Given the description of an element on the screen output the (x, y) to click on. 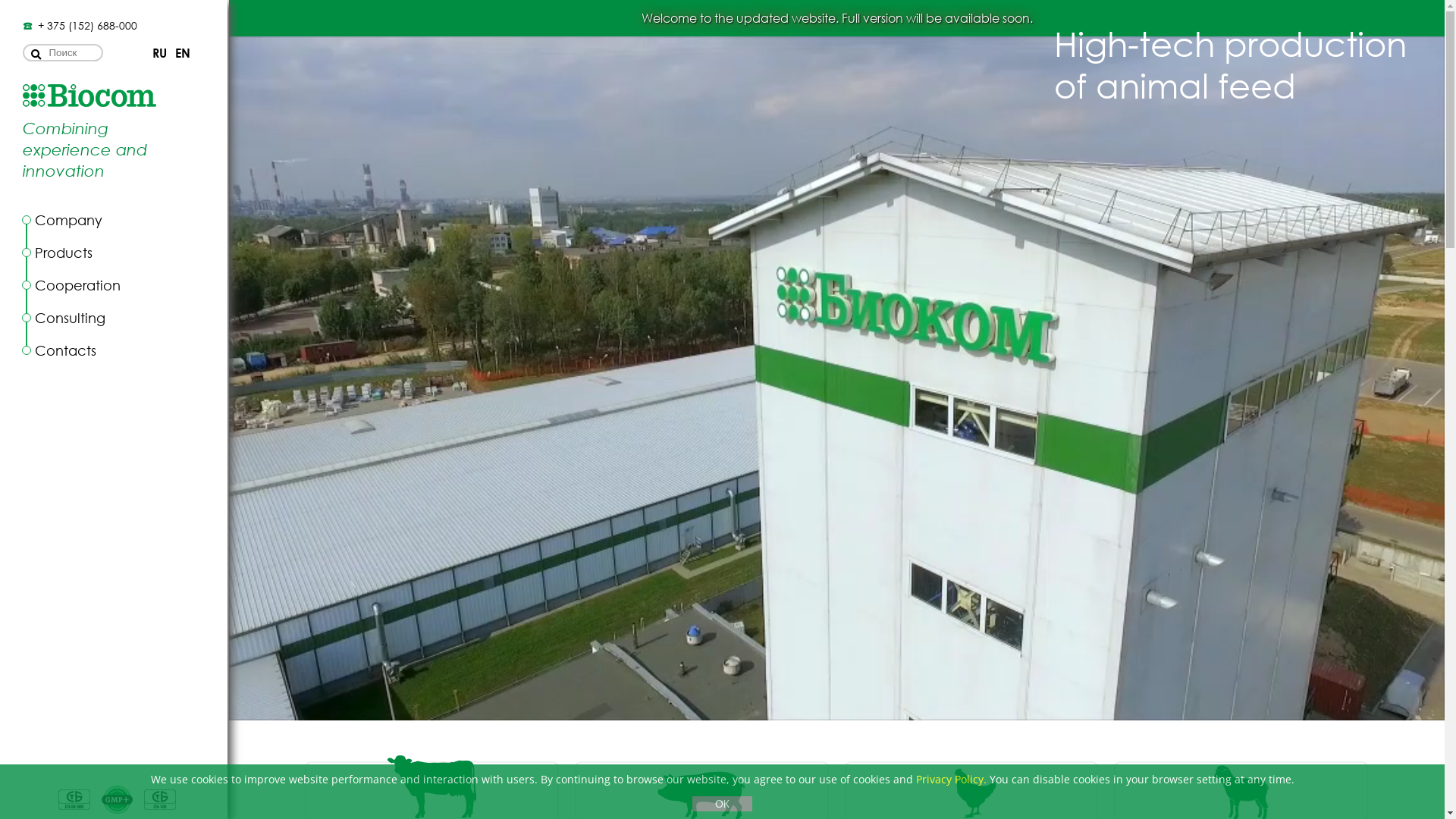
Company Element type: text (64, 220)
RU Element type: text (160, 52)
Consulting Element type: text (66, 317)
Contacts Element type: text (61, 350)
Privacy Policy. Element type: text (951, 778)
Products Element type: text (59, 252)
Cooperation Element type: text (73, 285)
EN Element type: text (183, 52)
+ 375 (152) 688-000 Element type: text (83, 25)
